Given the description of an element on the screen output the (x, y) to click on. 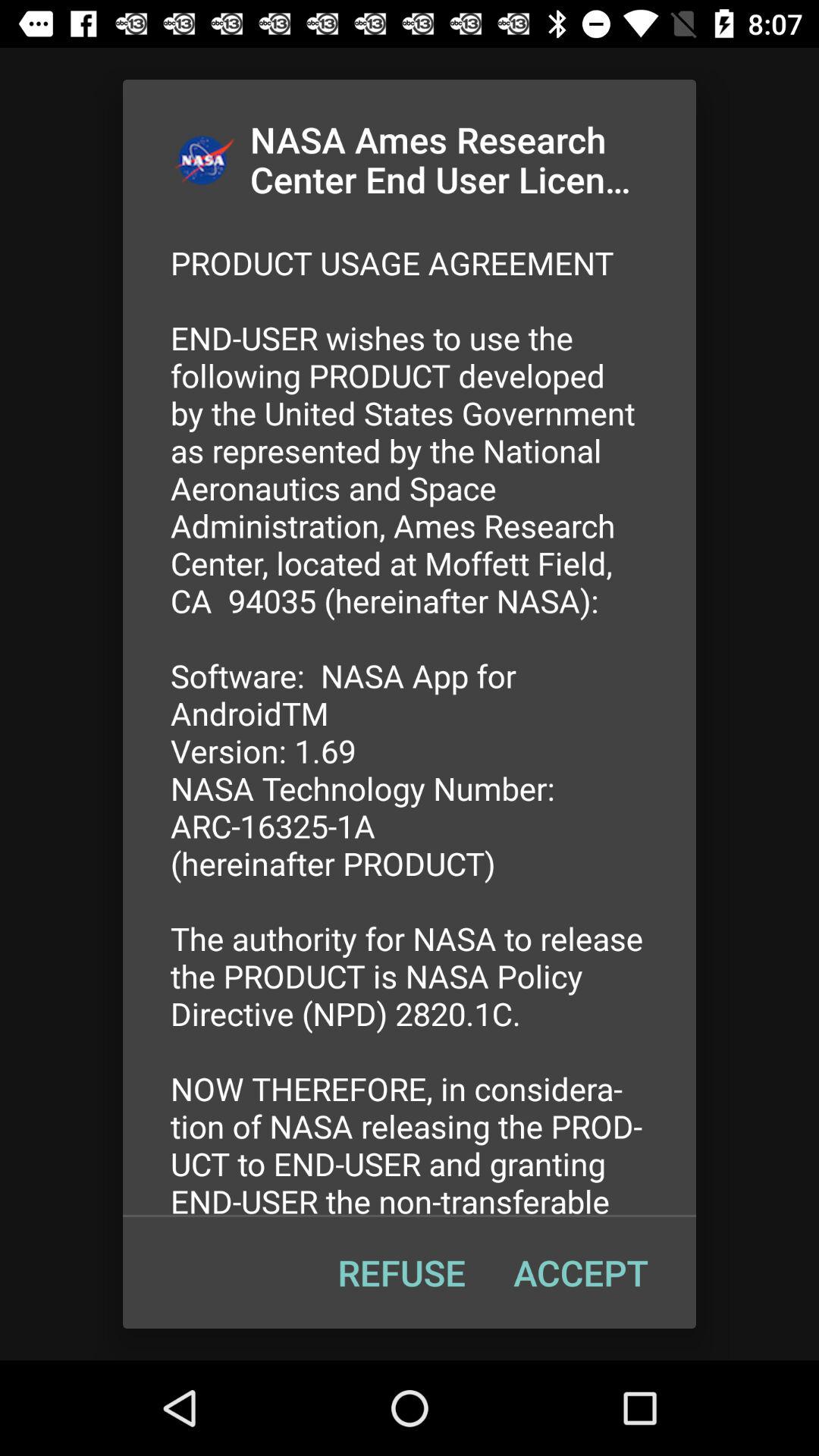
press refuse at the bottom (401, 1272)
